Given the description of an element on the screen output the (x, y) to click on. 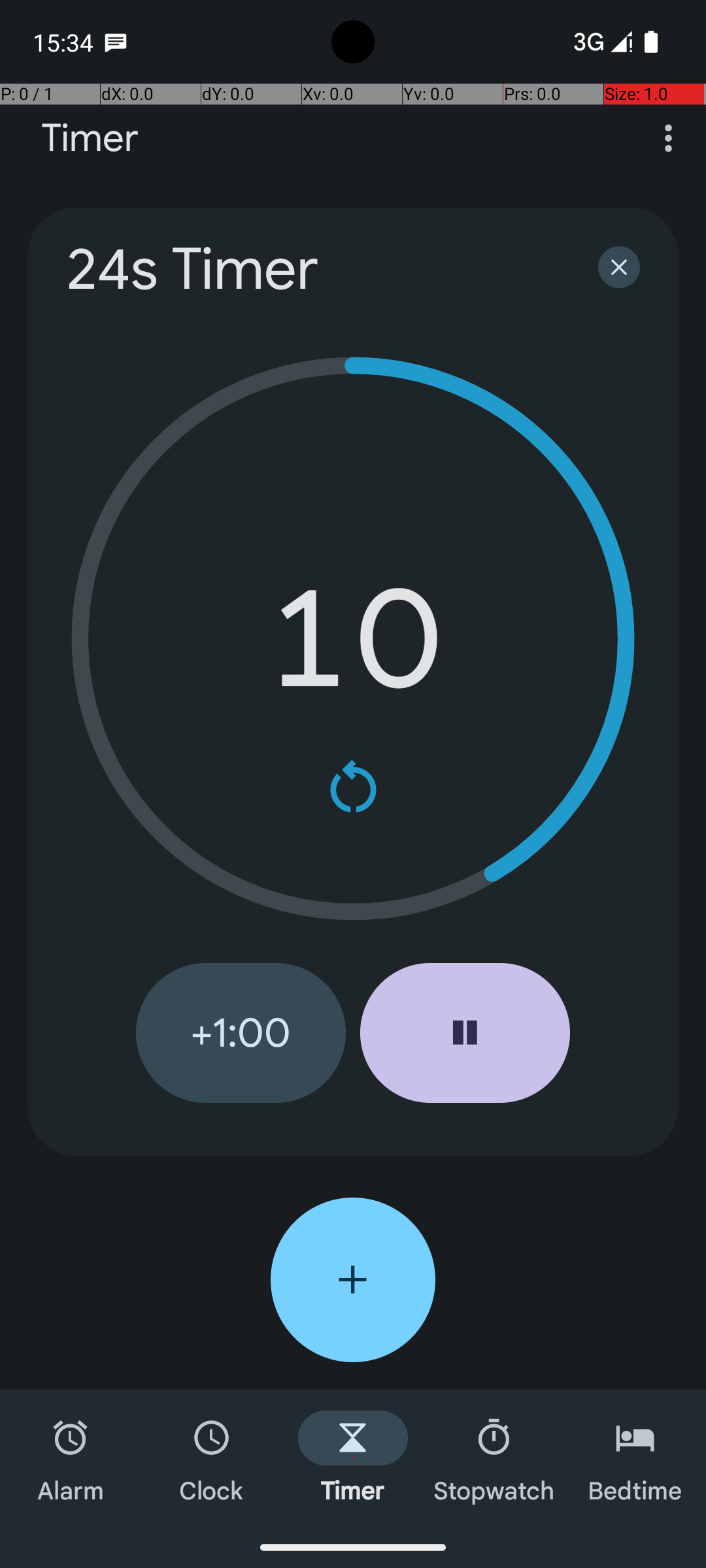
Add timer Element type: android.widget.Button (352, 1279)
24s Timer Element type: android.widget.TextView (315, 269)
+1:00 Element type: android.widget.Button (240, 1032)
